Given the description of an element on the screen output the (x, y) to click on. 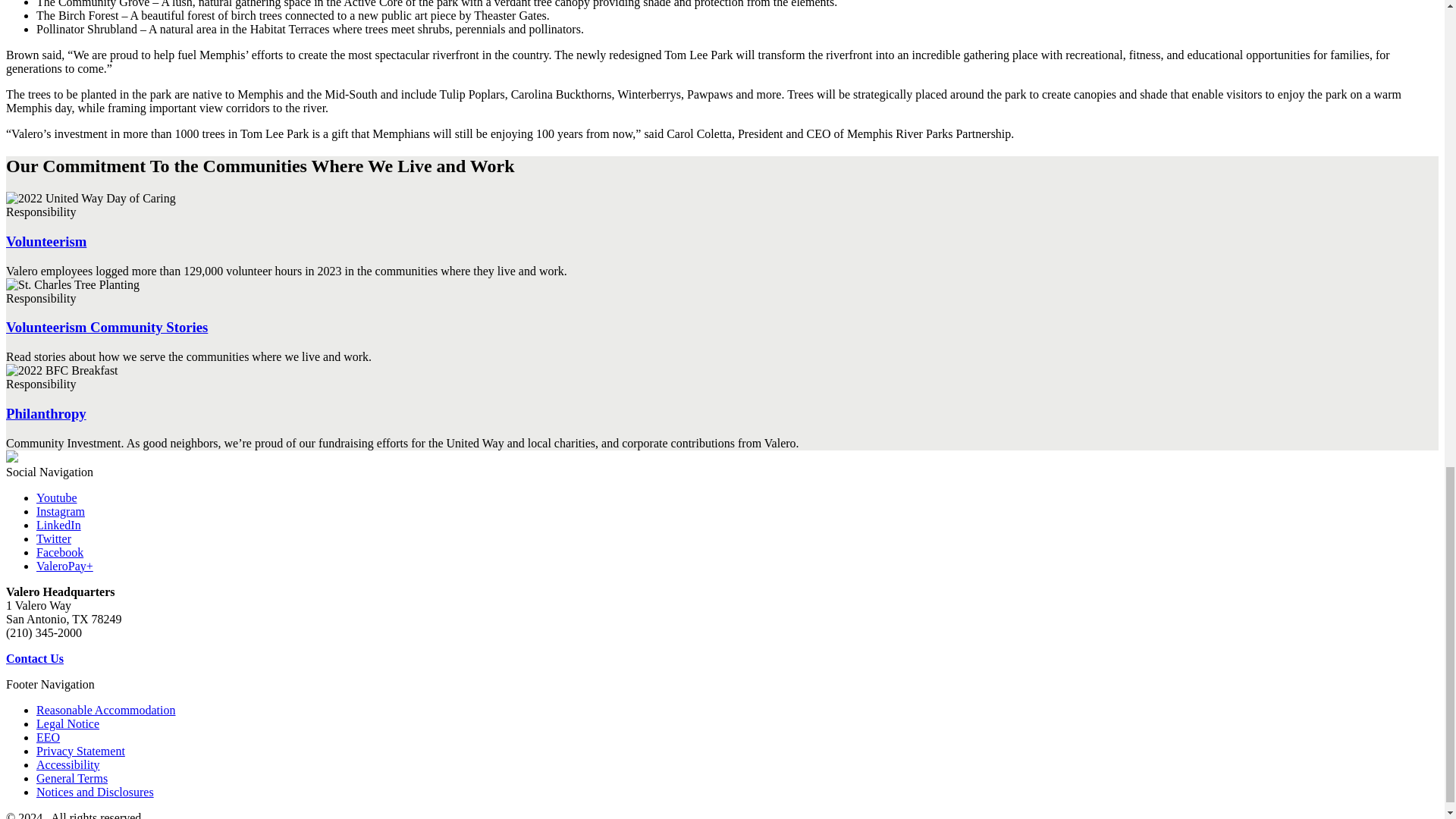
Contact Us (34, 658)
